Given the description of an element on the screen output the (x, y) to click on. 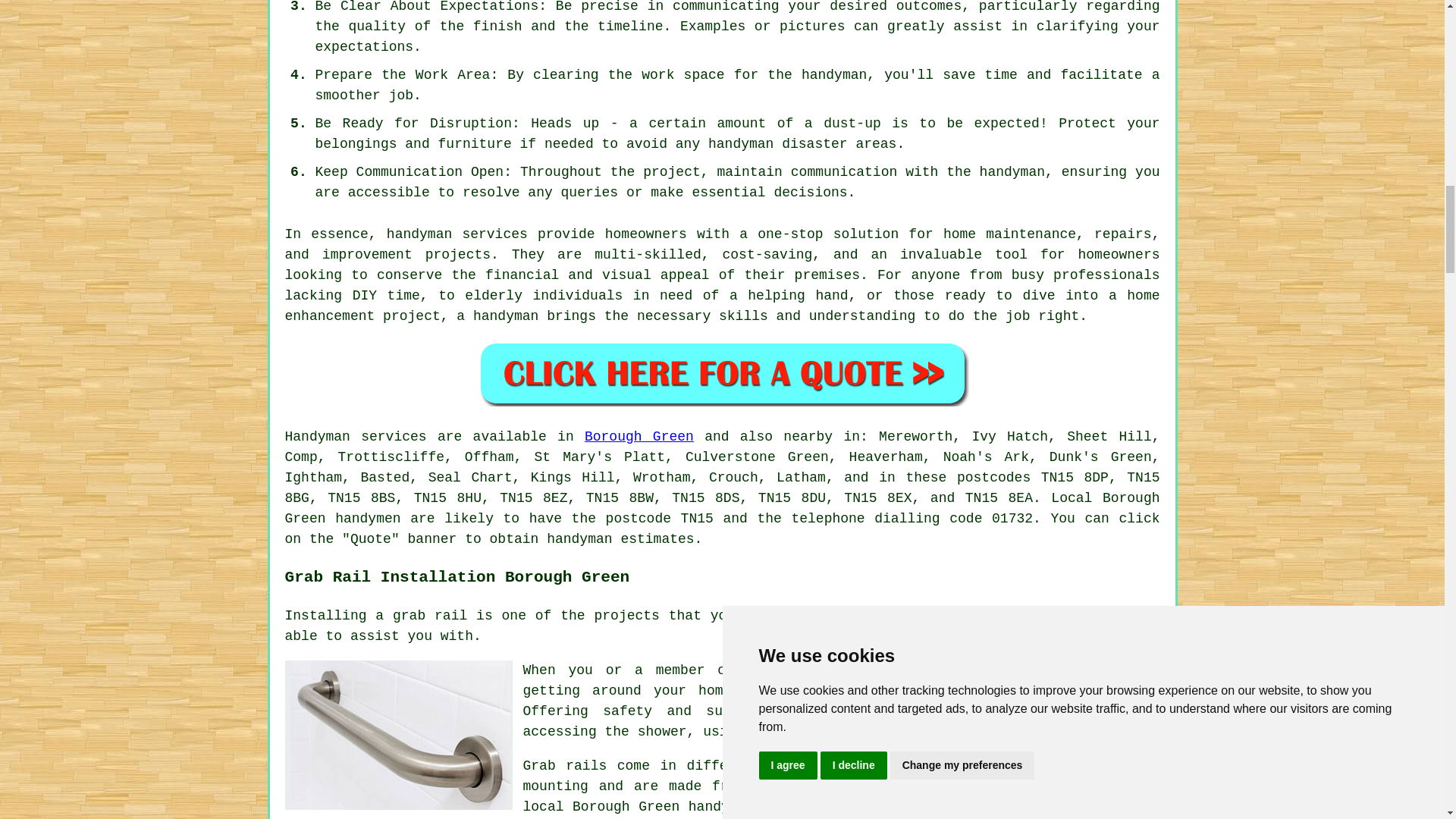
Handyman Installed Grab Rails Borough Green (398, 734)
handyman services (457, 233)
Handyman services (355, 436)
handyman (1012, 171)
handymen (367, 518)
handyman (579, 539)
